Given the description of an element on the screen output the (x, y) to click on. 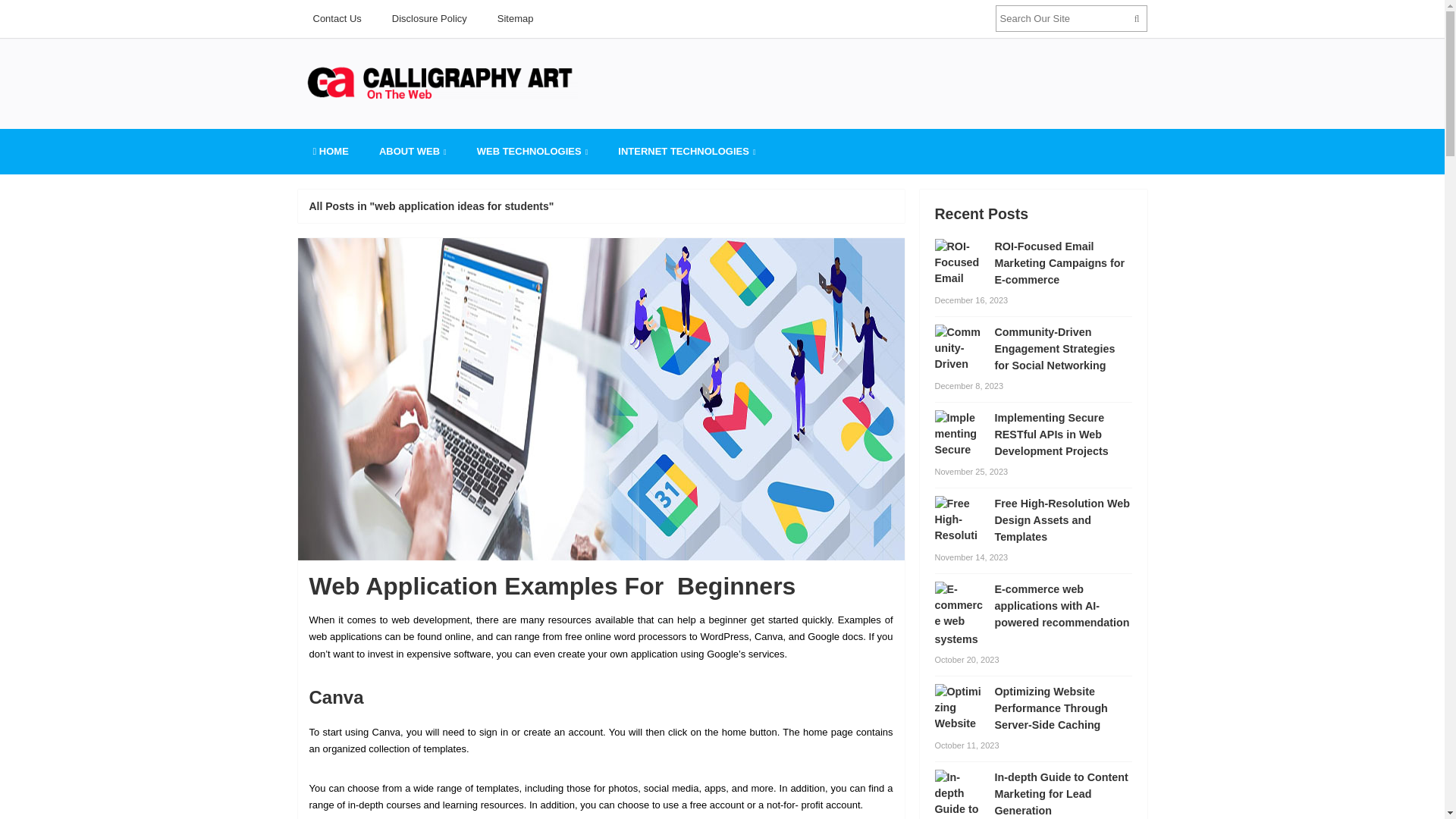
Disclosure Policy (429, 18)
Contact Us (336, 18)
Sitemap (514, 18)
